Given the description of an element on the screen output the (x, y) to click on. 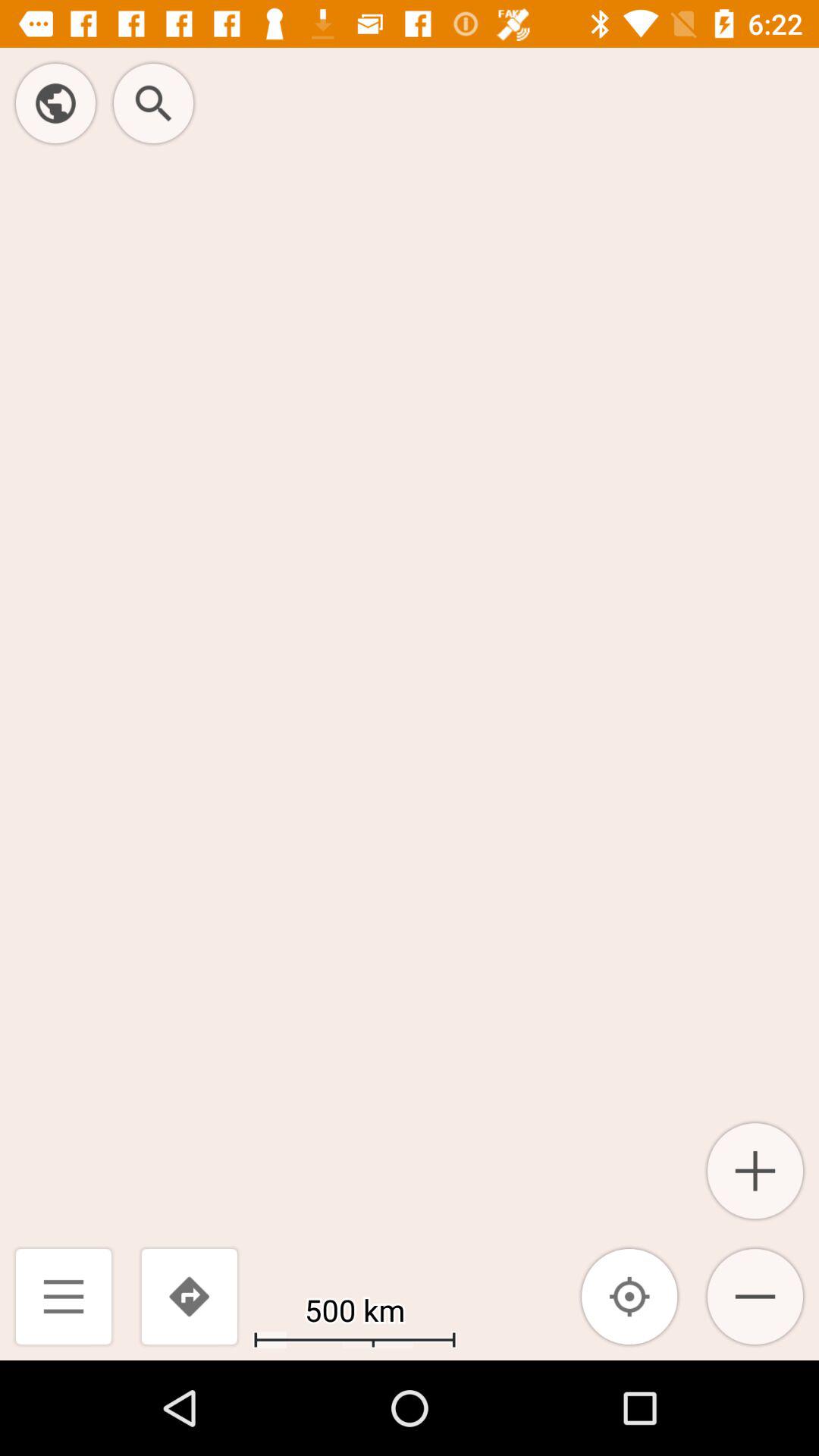
turn on icon next to the 500 km (189, 1296)
